Given the description of an element on the screen output the (x, y) to click on. 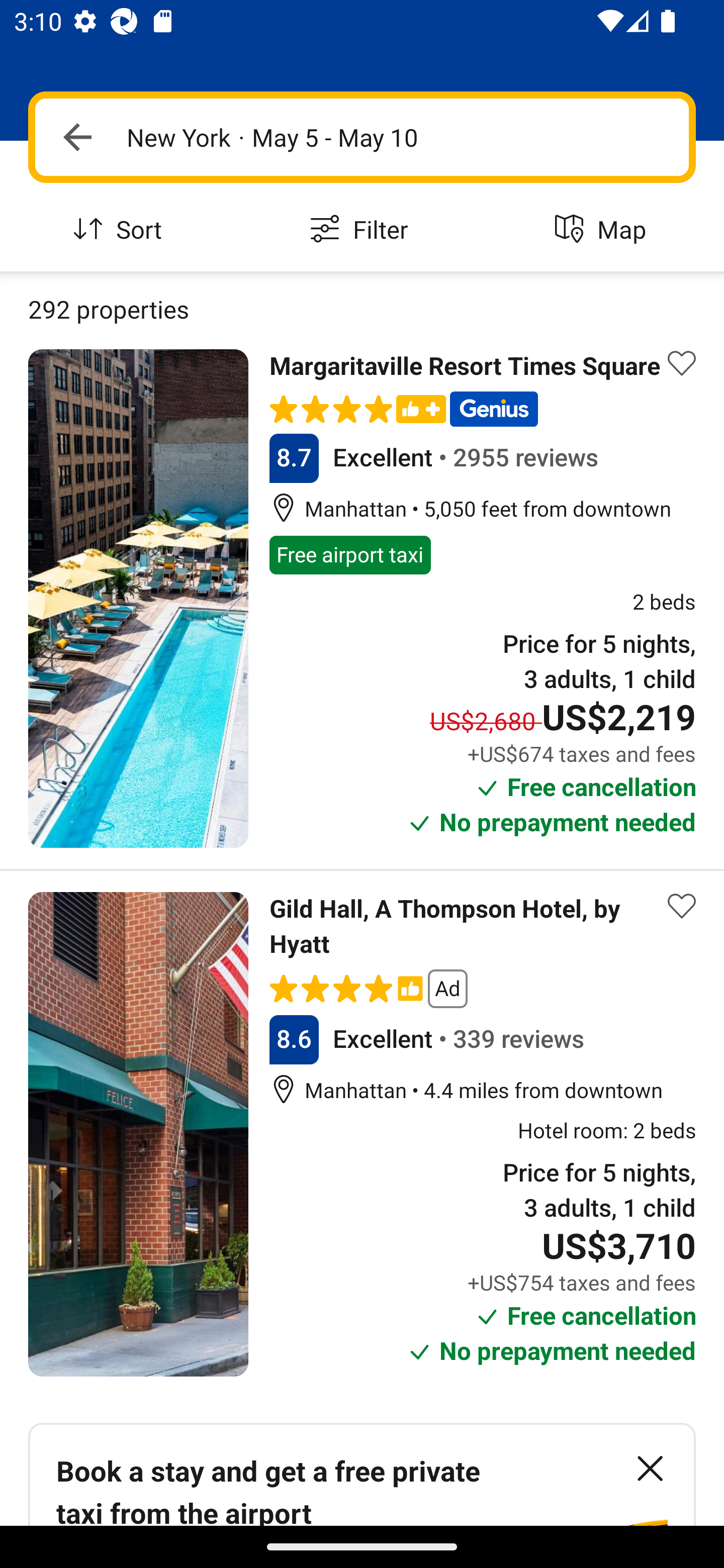
Navigate up New York · May 5 - May 10 (362, 136)
Navigate up (77, 136)
Sort (120, 230)
Filter (361, 230)
Map (603, 230)
Save property to list (681, 363)
Save property to list (681, 905)
Dismiss banner button (650, 1467)
